Given the description of an element on the screen output the (x, y) to click on. 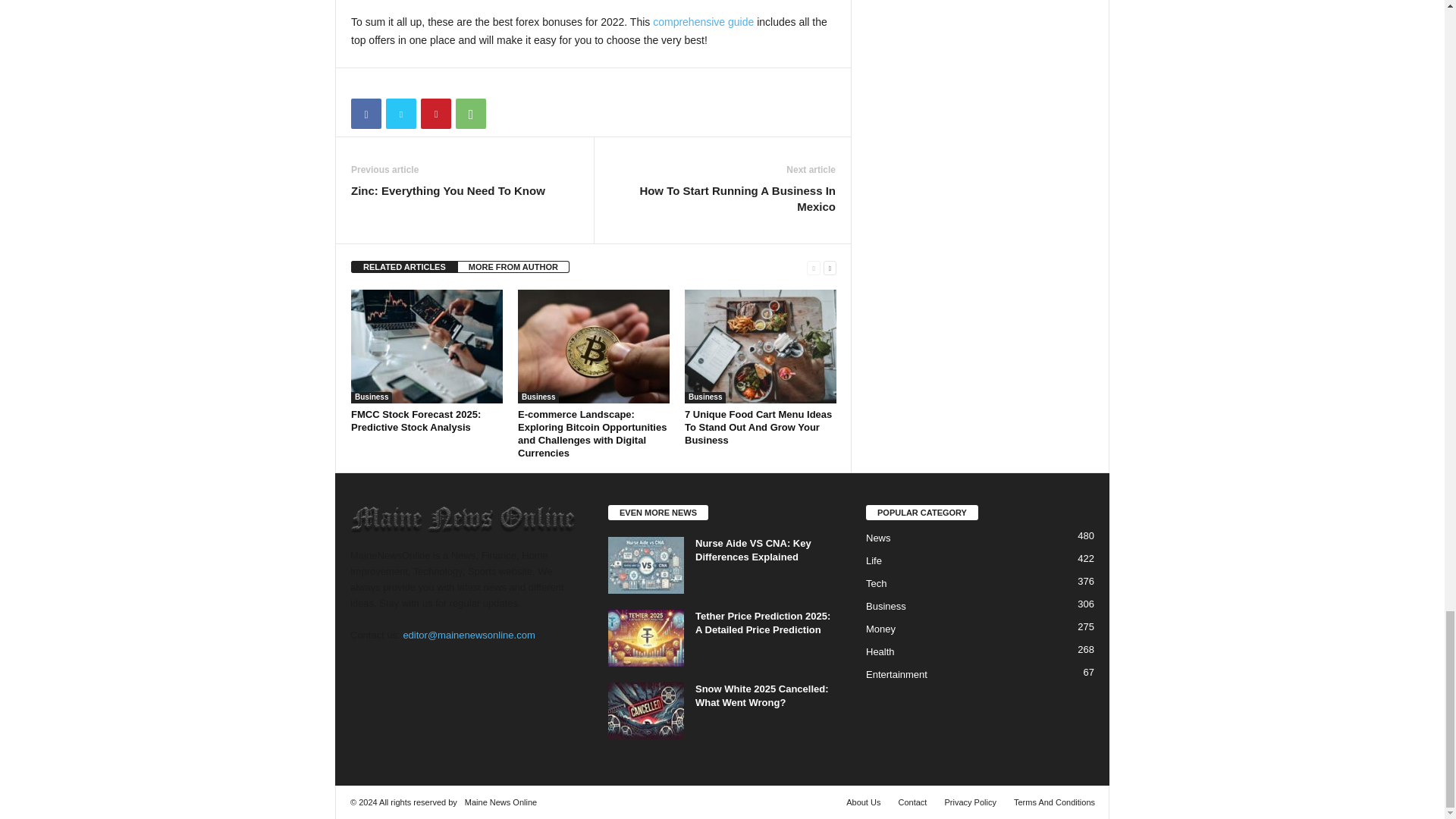
FMCC Stock Forecast 2025: Predictive Stock Analysis (415, 420)
WhatsApp (470, 113)
bottomFacebookLike (390, 83)
Pinterest (435, 113)
FMCC Stock Forecast 2025: Predictive Stock Analysis (426, 346)
Facebook (365, 113)
Twitter (400, 113)
